Given the description of an element on the screen output the (x, y) to click on. 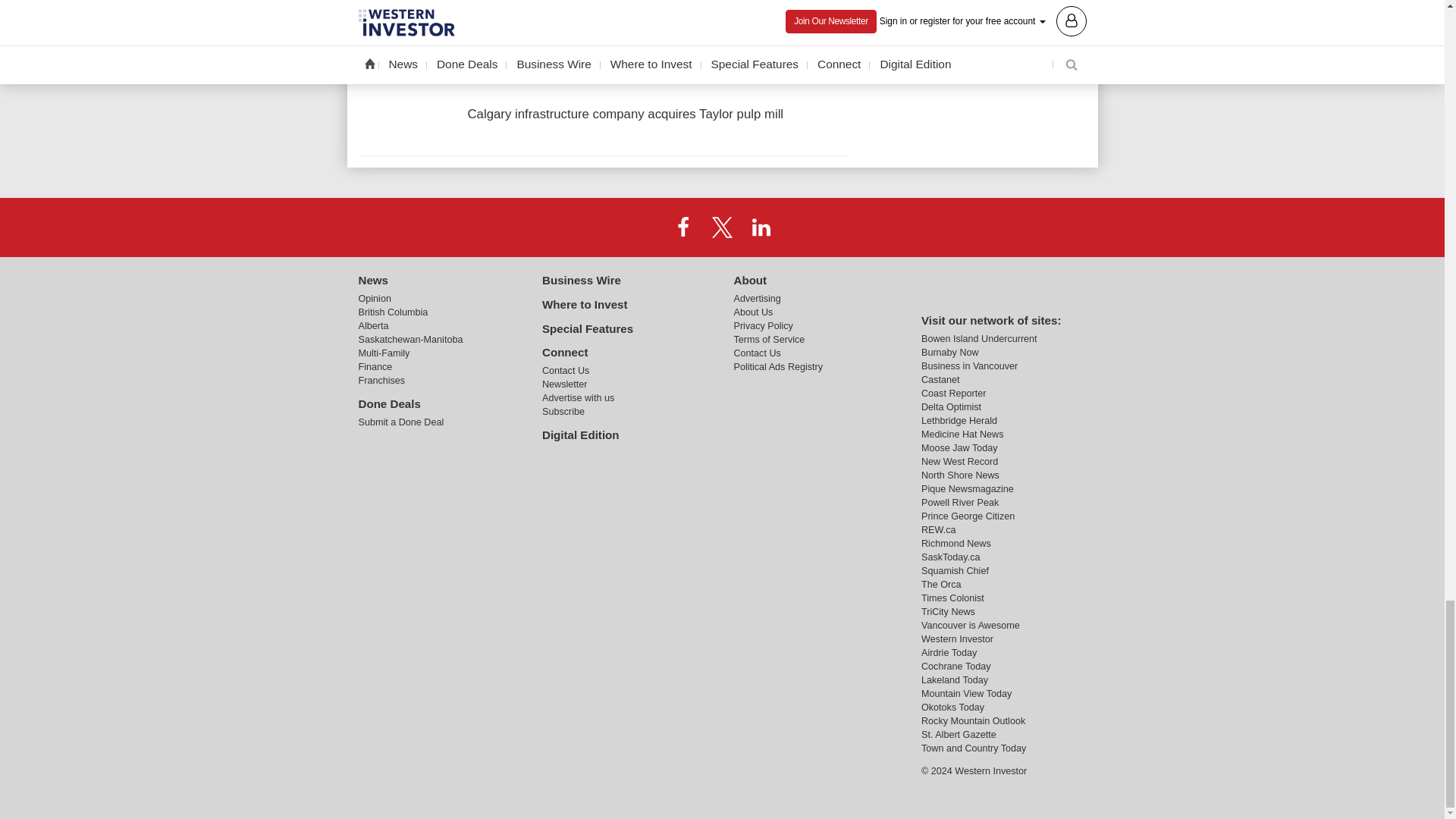
Facebook (683, 226)
X (721, 226)
LinkedIn (760, 226)
